Given the description of an element on the screen output the (x, y) to click on. 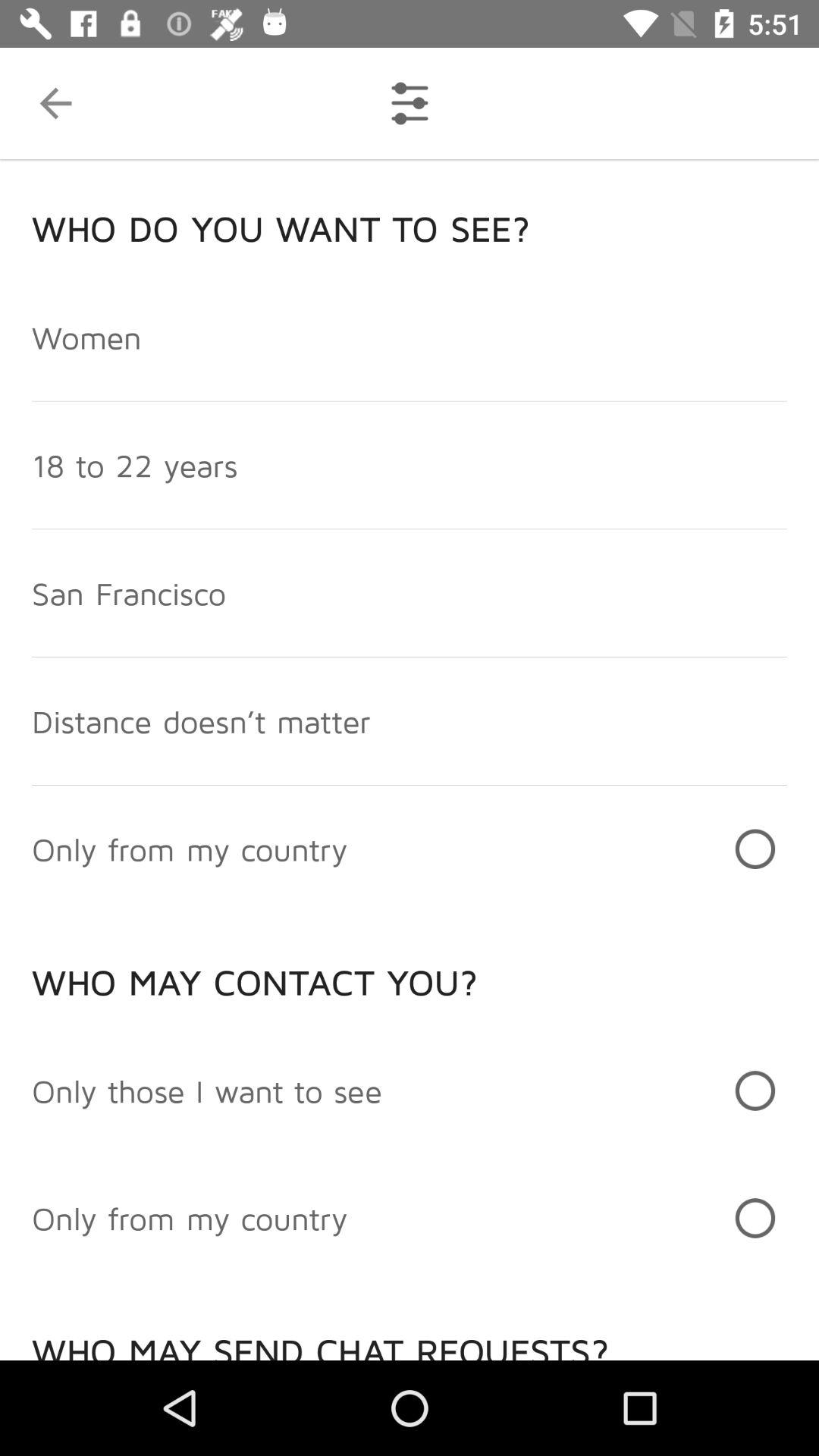
open only those i (206, 1090)
